Given the description of an element on the screen output the (x, y) to click on. 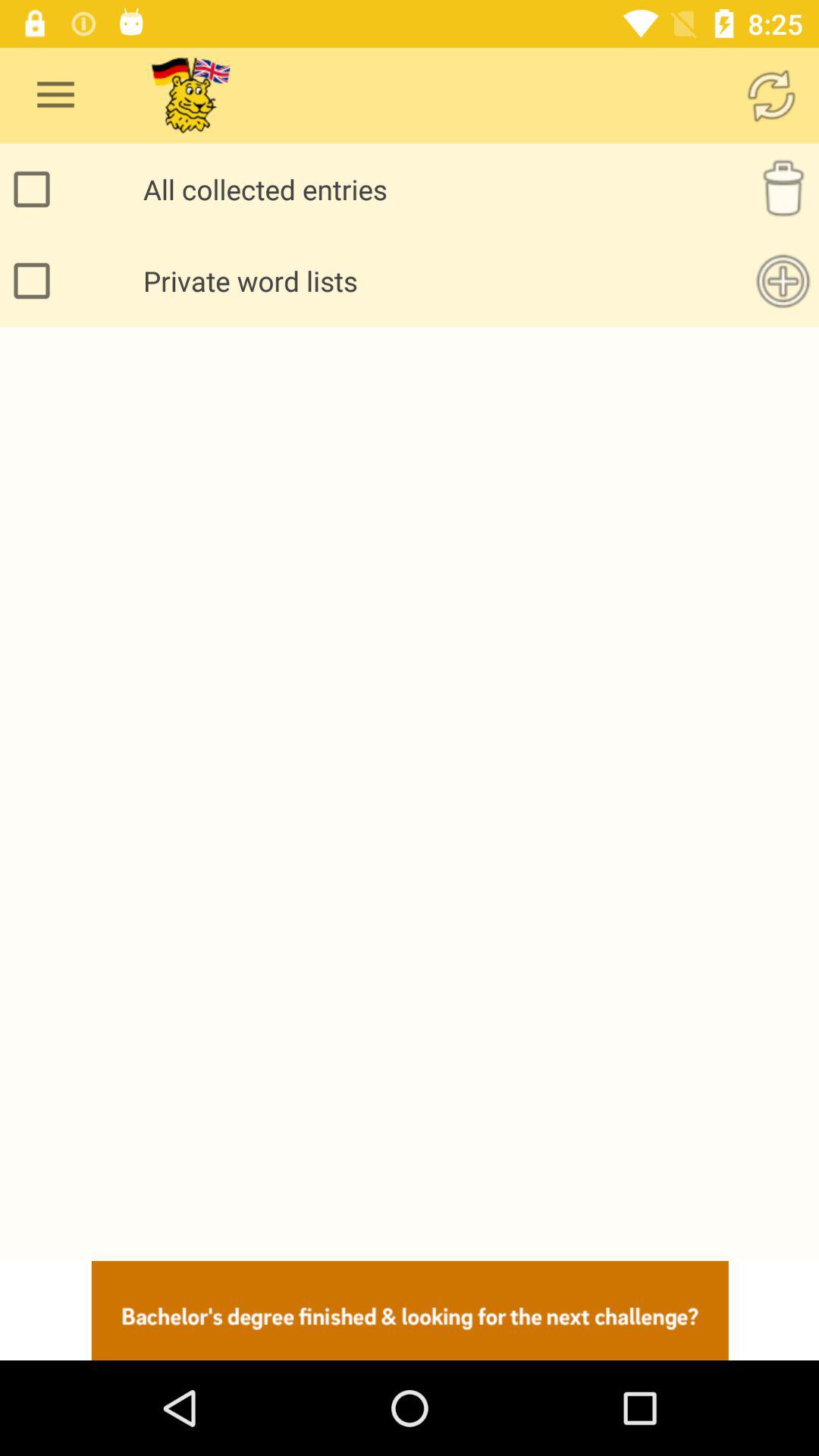
add word (783, 280)
